Given the description of an element on the screen output the (x, y) to click on. 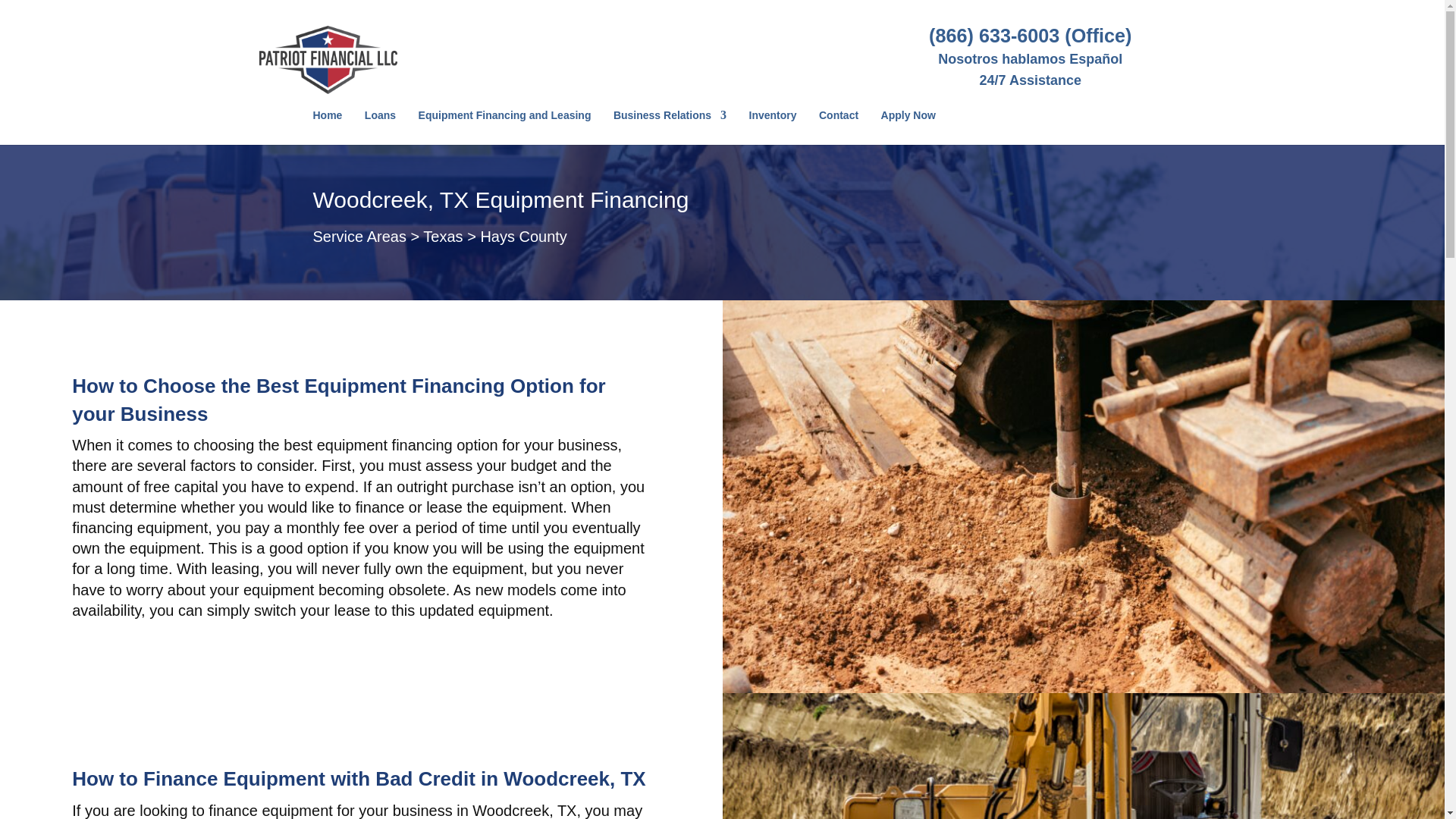
Service Areas (359, 236)
Equipment Financing and Leasing (505, 126)
Texas (443, 236)
Loans (380, 126)
Apply Now (908, 126)
Inventory (772, 126)
Contact (838, 126)
Hays County (523, 236)
Business Relations (669, 126)
